Given the description of an element on the screen output the (x, y) to click on. 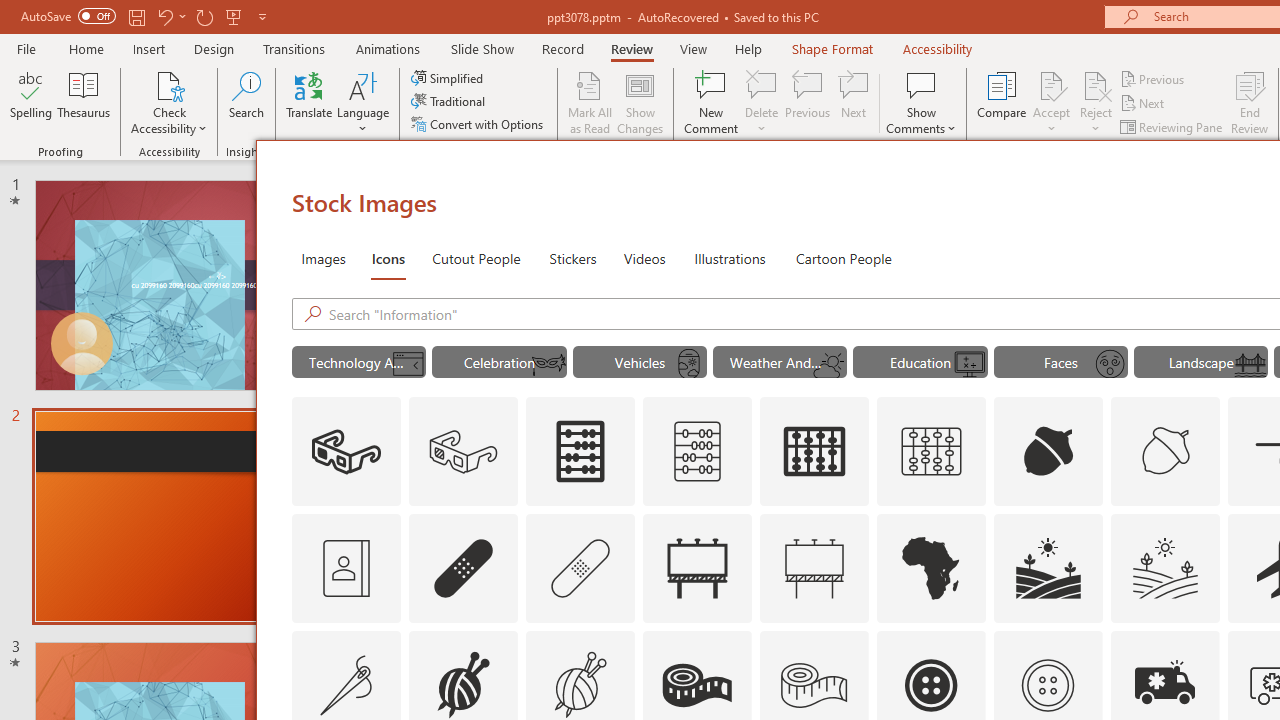
AutomationID: Icons_3dGlasses_M (463, 452)
Icons (388, 258)
"Vehicles" Icons. (639, 362)
Videos (644, 258)
AutomationID: Icons_Advertising (697, 568)
